Given the description of an element on the screen output the (x, y) to click on. 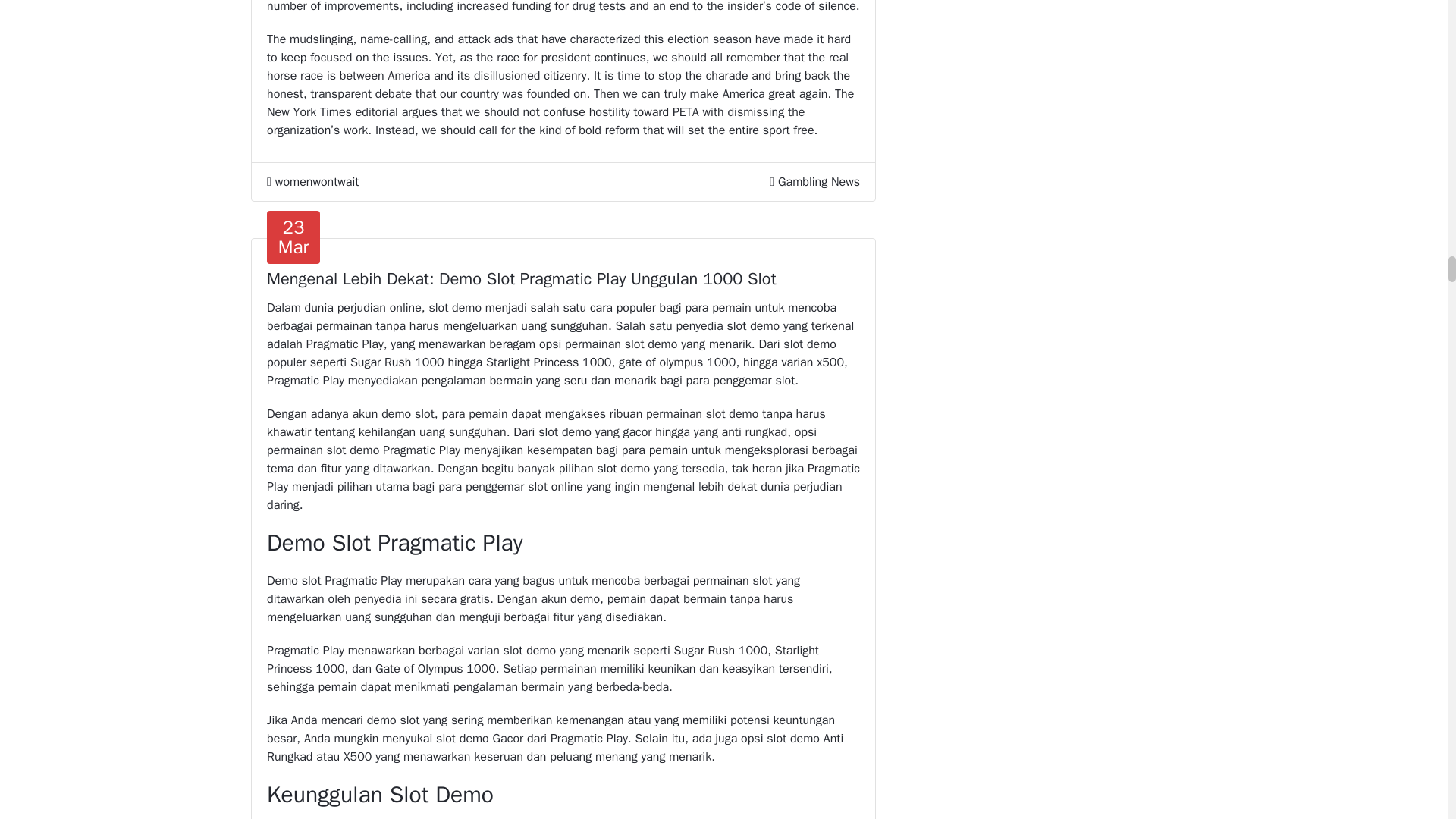
womenwontwait (312, 181)
